Given the description of an element on the screen output the (x, y) to click on. 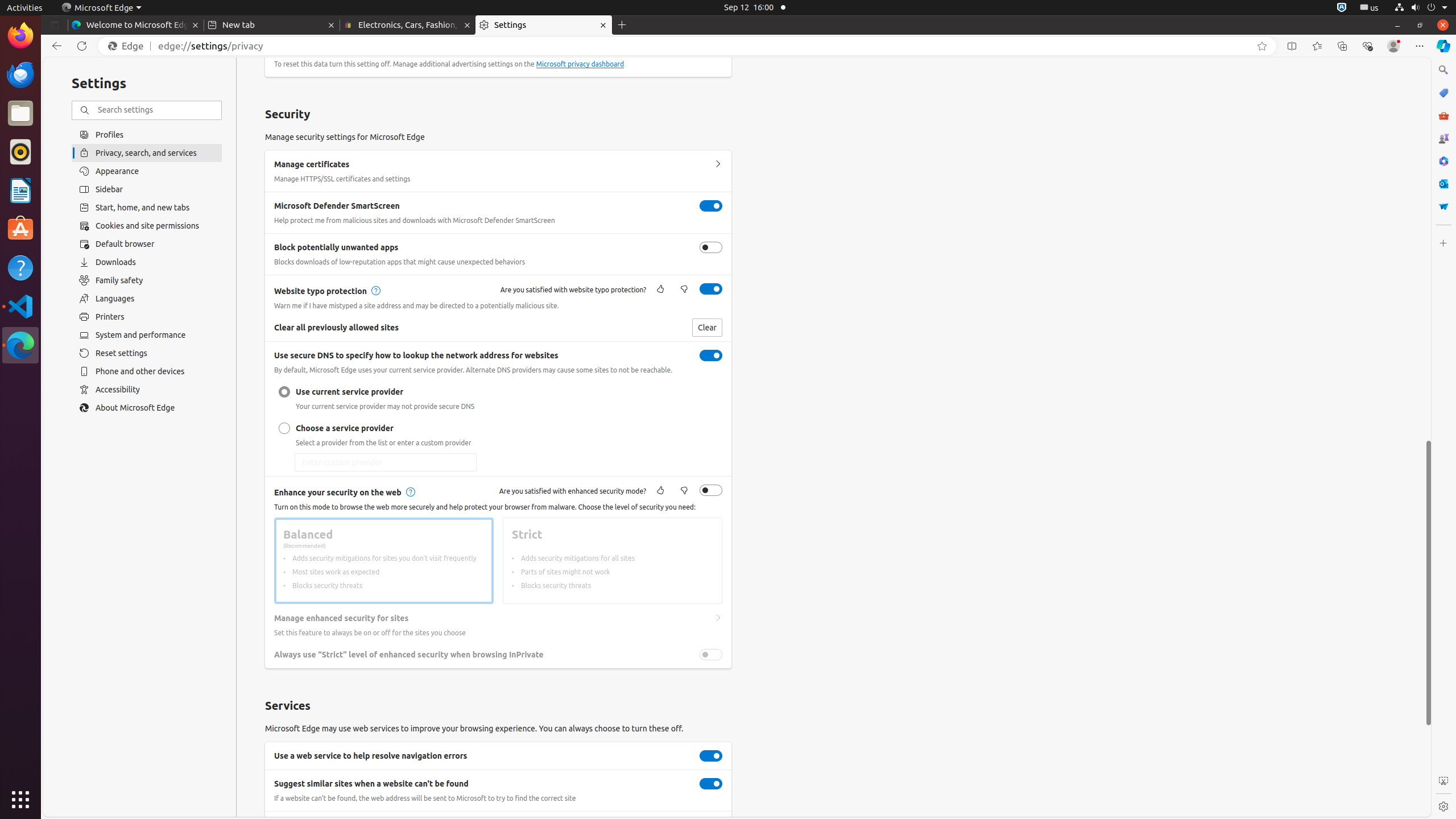
Split screen Element type: push-button (1291, 45)
Family safety Element type: tree-item (146, 280)
Close tab Element type: push-button (195, 25)
Cookies and site permissions Element type: tree-item (146, 225)
Block potentially unwanted apps Element type: check-box (710, 247)
